Given the description of an element on the screen output the (x, y) to click on. 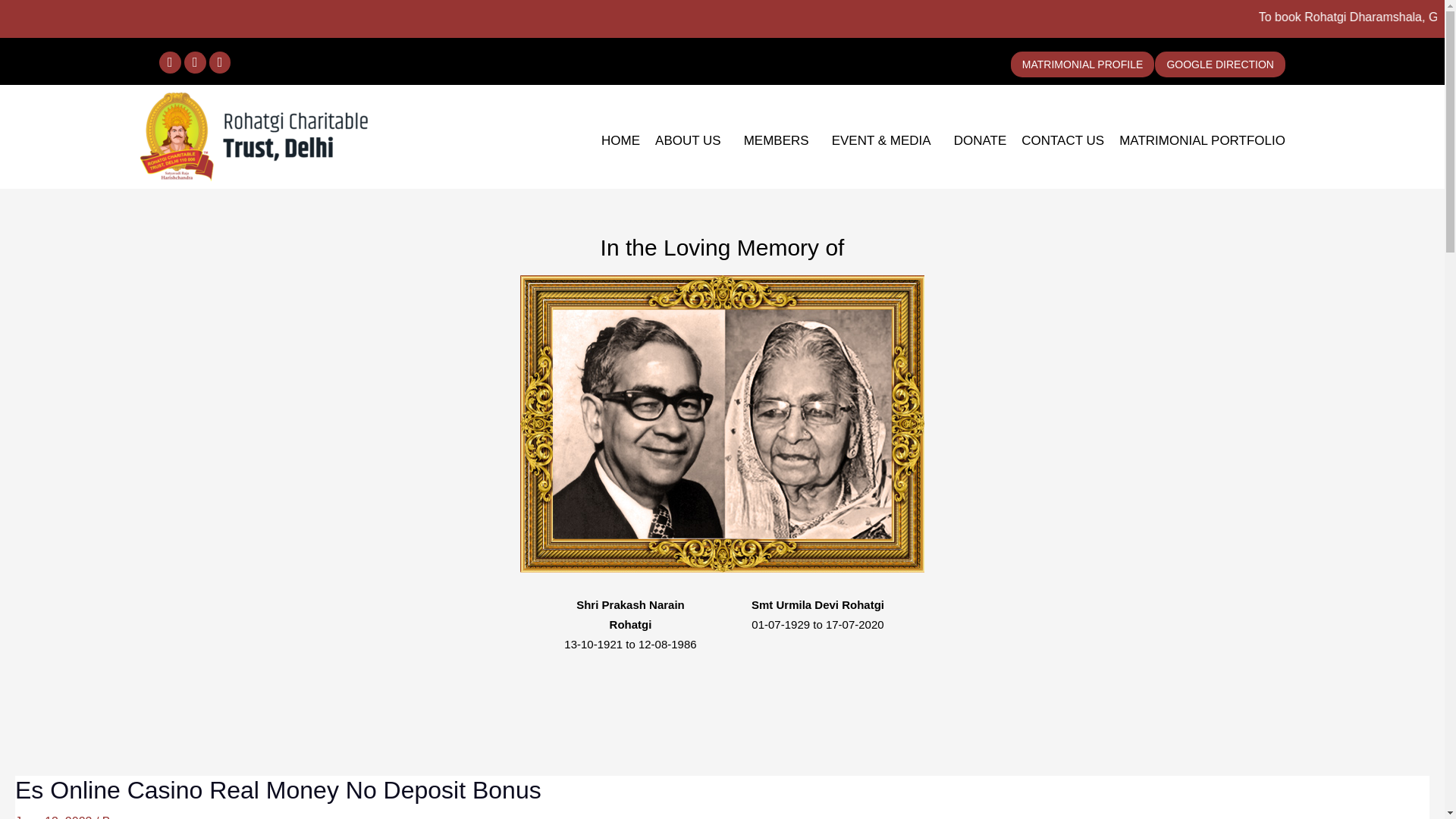
Youtube (220, 62)
HOME (620, 140)
GOOGLE DIRECTION (1219, 63)
ABOUT US (692, 140)
MEMBERS (780, 140)
Facebook (169, 62)
MATRIMONIAL PROFILE (1082, 63)
Instagram (195, 62)
